Given the description of an element on the screen output the (x, y) to click on. 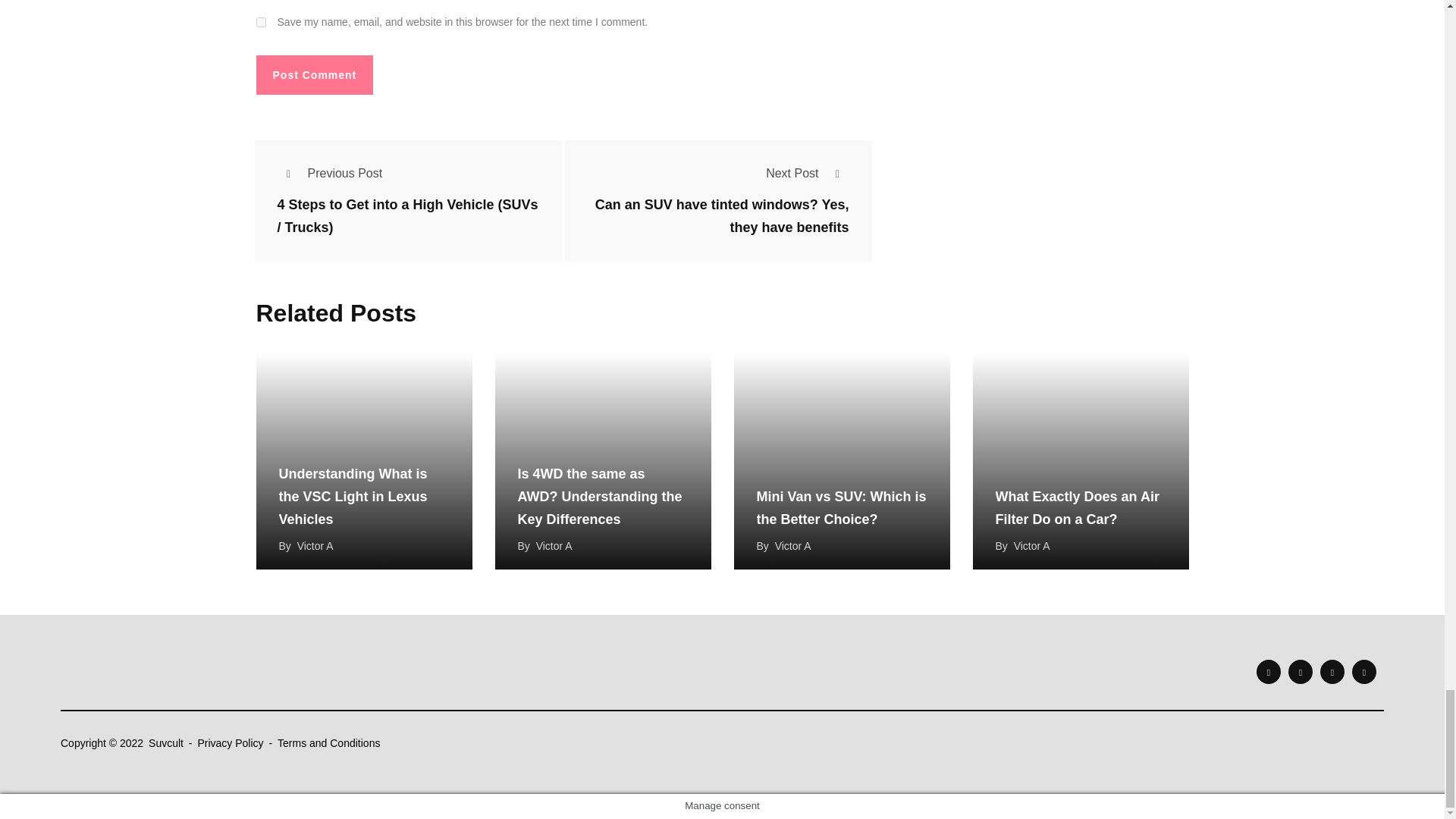
Post Comment (315, 75)
Understanding What is the VSC Light in Lexus Vehicles (363, 460)
yes (261, 22)
